Given the description of an element on the screen output the (x, y) to click on. 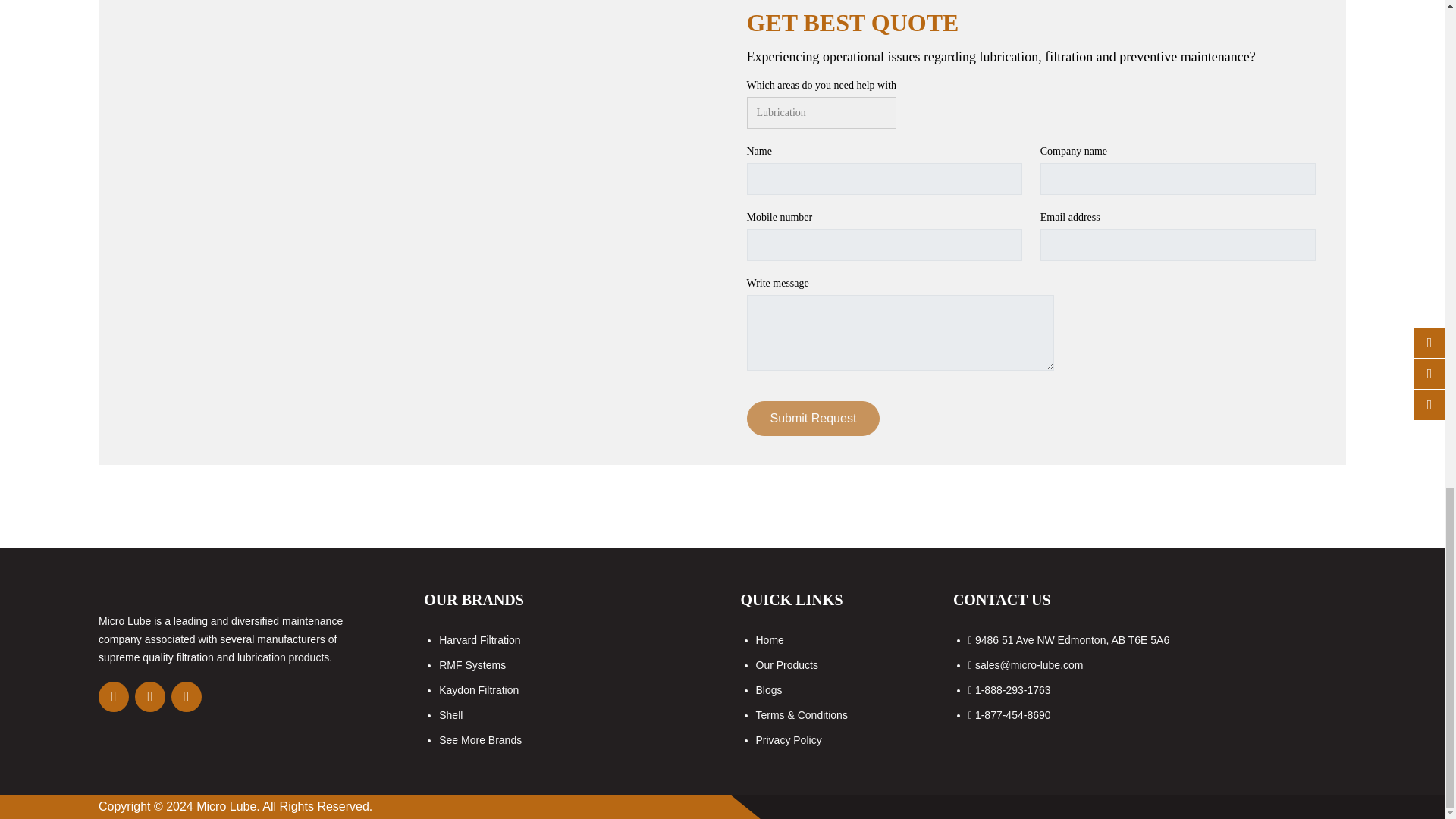
Submit Request (812, 418)
